Given the description of an element on the screen output the (x, y) to click on. 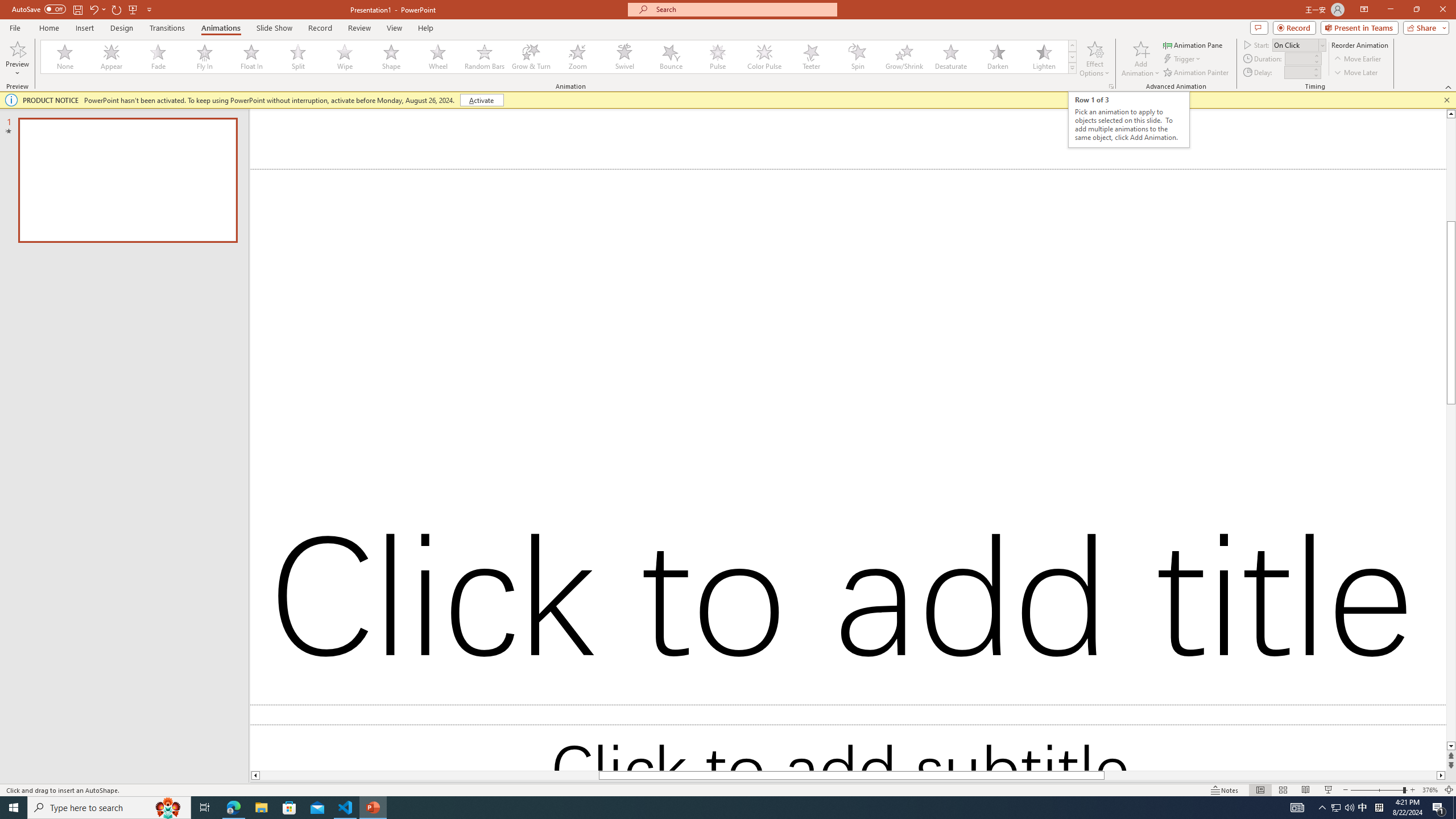
Add Animation (1141, 58)
Zoom 376% (1430, 790)
Shape (391, 56)
AutomationID: AnimationGallery (558, 56)
